Given the description of an element on the screen output the (x, y) to click on. 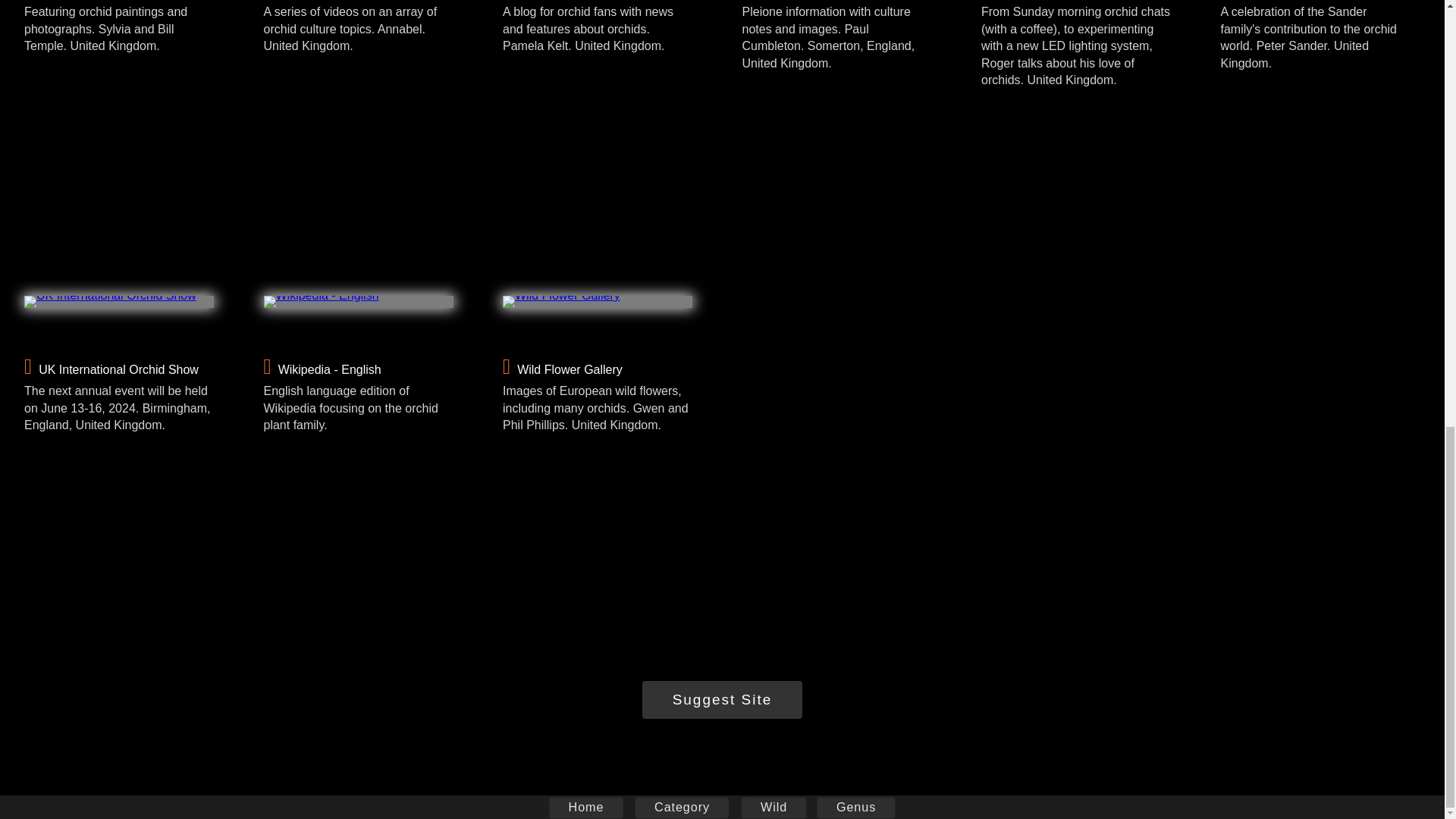
Suggest Site (722, 699)
